Given the description of an element on the screen output the (x, y) to click on. 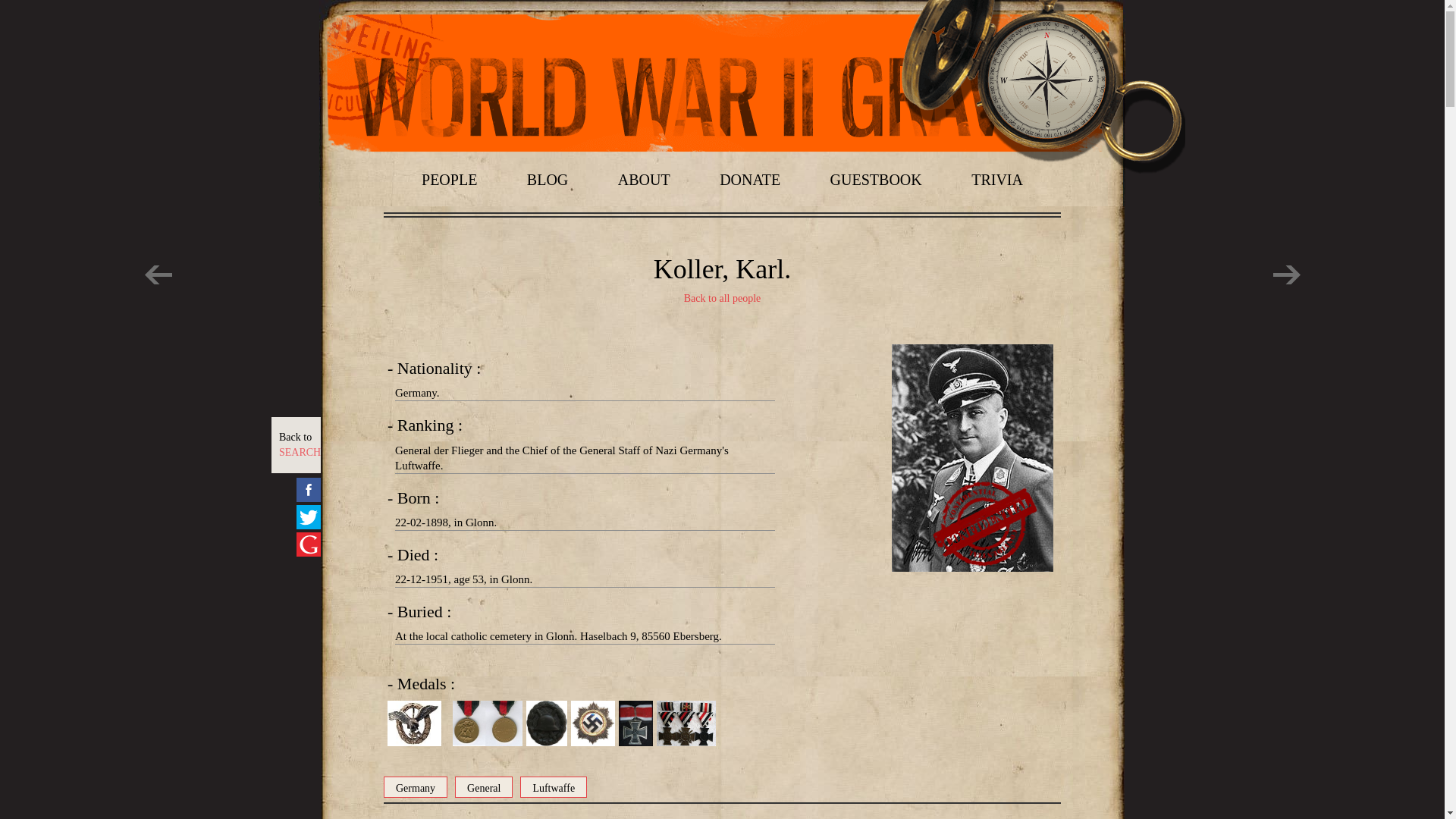
GUESTBOOK (875, 179)
DONATE (749, 179)
PEOPLE (449, 179)
General (483, 786)
Back to all people (722, 298)
Germany (299, 444)
Luftwaffe (415, 786)
ABOUT (552, 786)
TRIVIA (643, 179)
BLOG (997, 179)
